Given the description of an element on the screen output the (x, y) to click on. 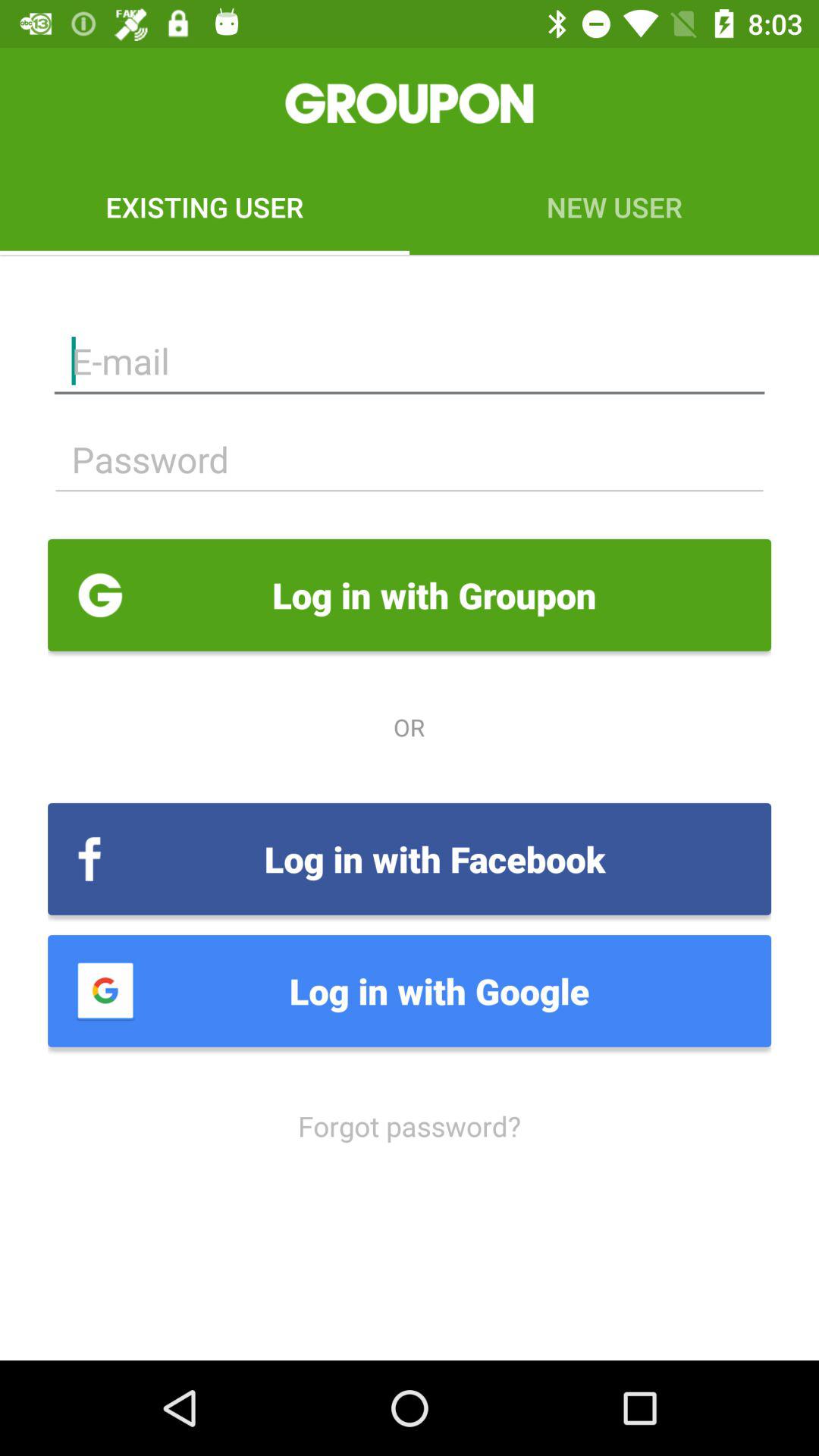
scroll to the existing user item (204, 206)
